Given the description of an element on the screen output the (x, y) to click on. 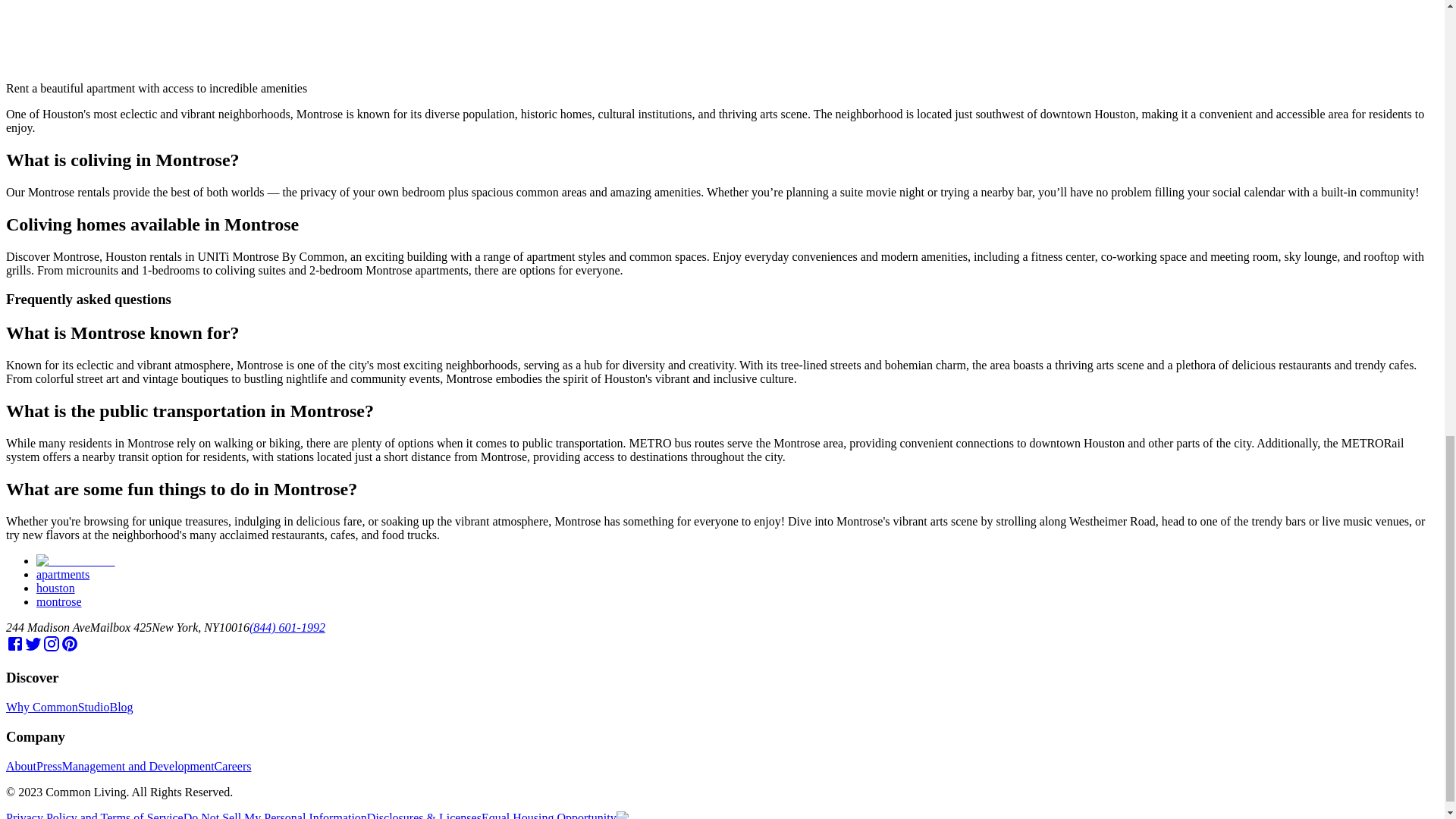
Studio (94, 707)
Blog (120, 707)
Careers (232, 766)
houston (55, 587)
apartments (62, 574)
Management and Development (138, 766)
montrose (58, 601)
Why Common (41, 707)
Press (49, 766)
About (20, 766)
